Given the description of an element on the screen output the (x, y) to click on. 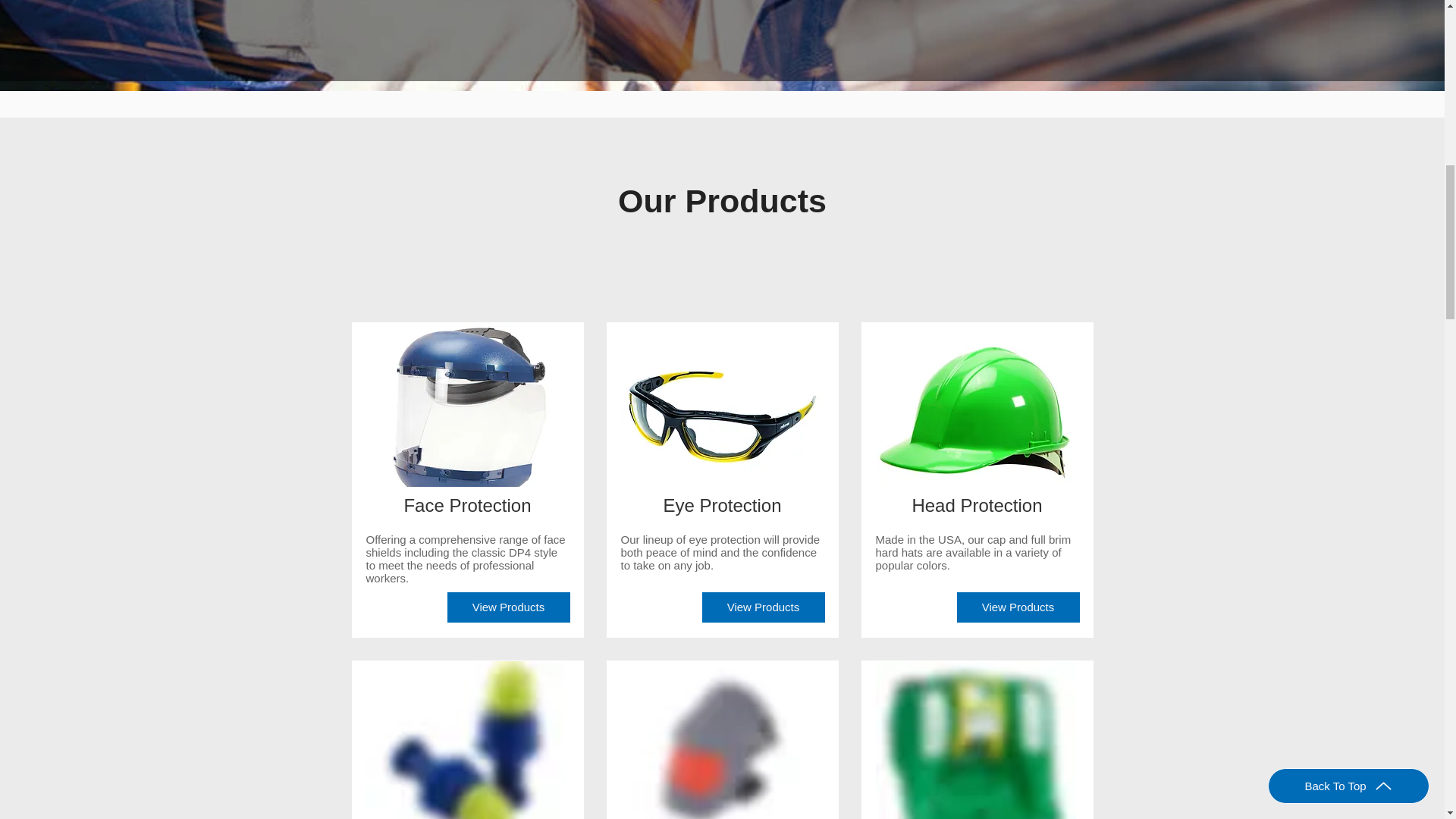
View Products (763, 607)
View Products (508, 607)
